Given the description of an element on the screen output the (x, y) to click on. 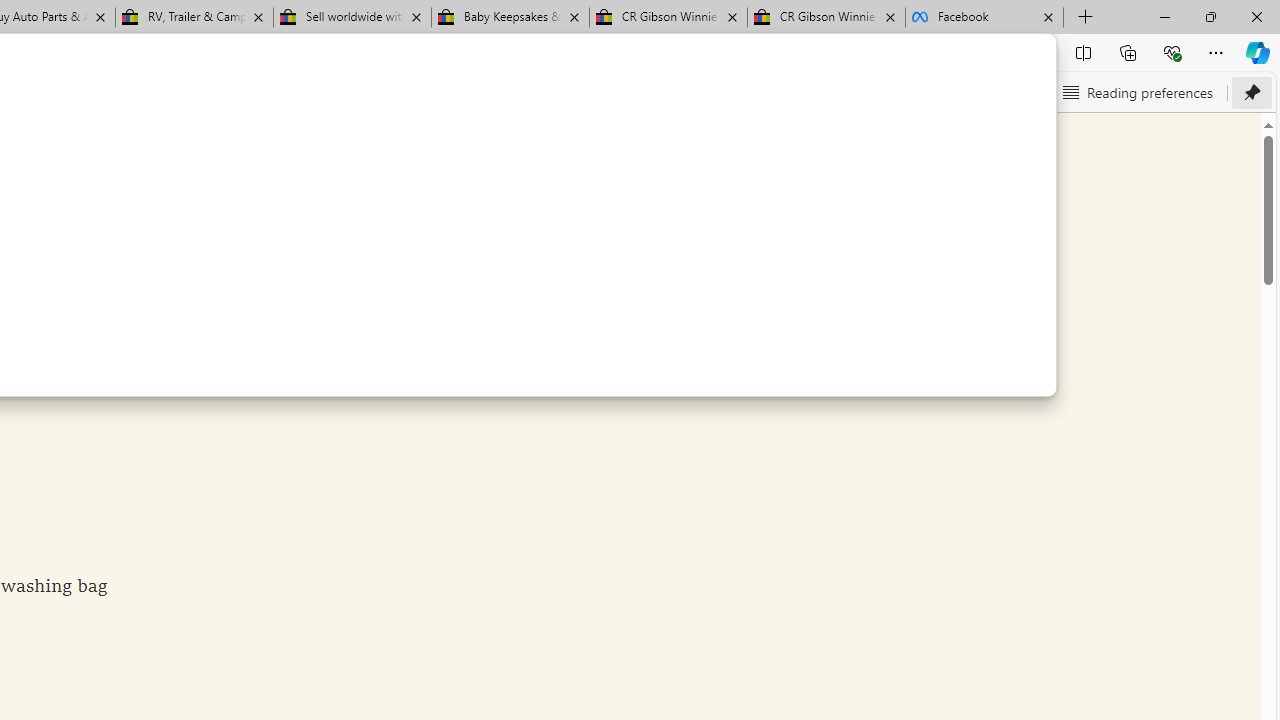
Unpin toolbar (1252, 92)
Sell worldwide with eBay (352, 17)
